Given the description of an element on the screen output the (x, y) to click on. 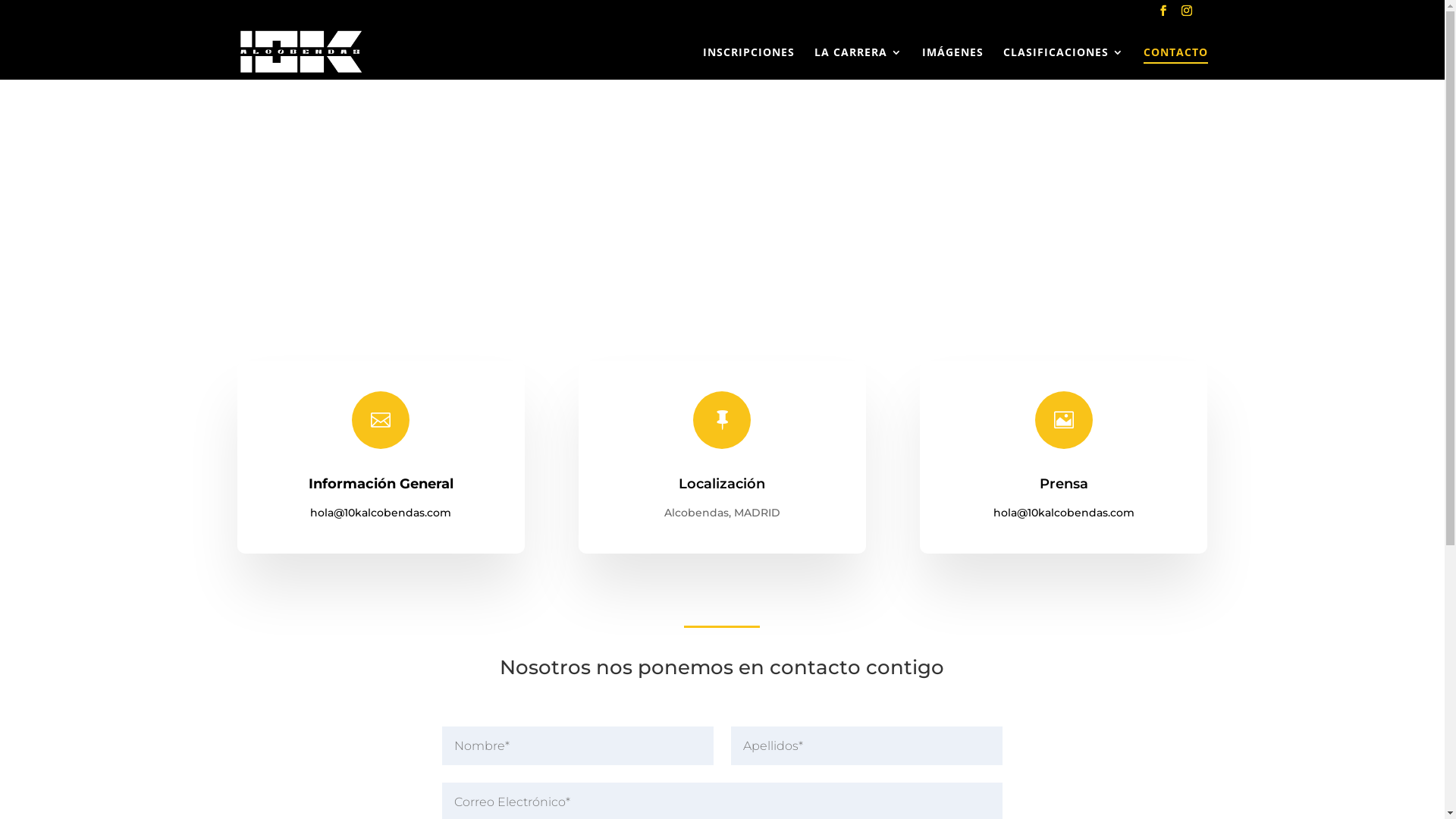
LA CARRERA Element type: text (858, 63)
hola@10kalcobendas.com Element type: text (1063, 512)
INSCRIPCIONES Element type: text (747, 63)
CONTACTO Element type: text (1175, 63)
hola@10kalcobendas.com Element type: text (380, 512)
CLASIFICACIONES Element type: text (1062, 63)
